Given the description of an element on the screen output the (x, y) to click on. 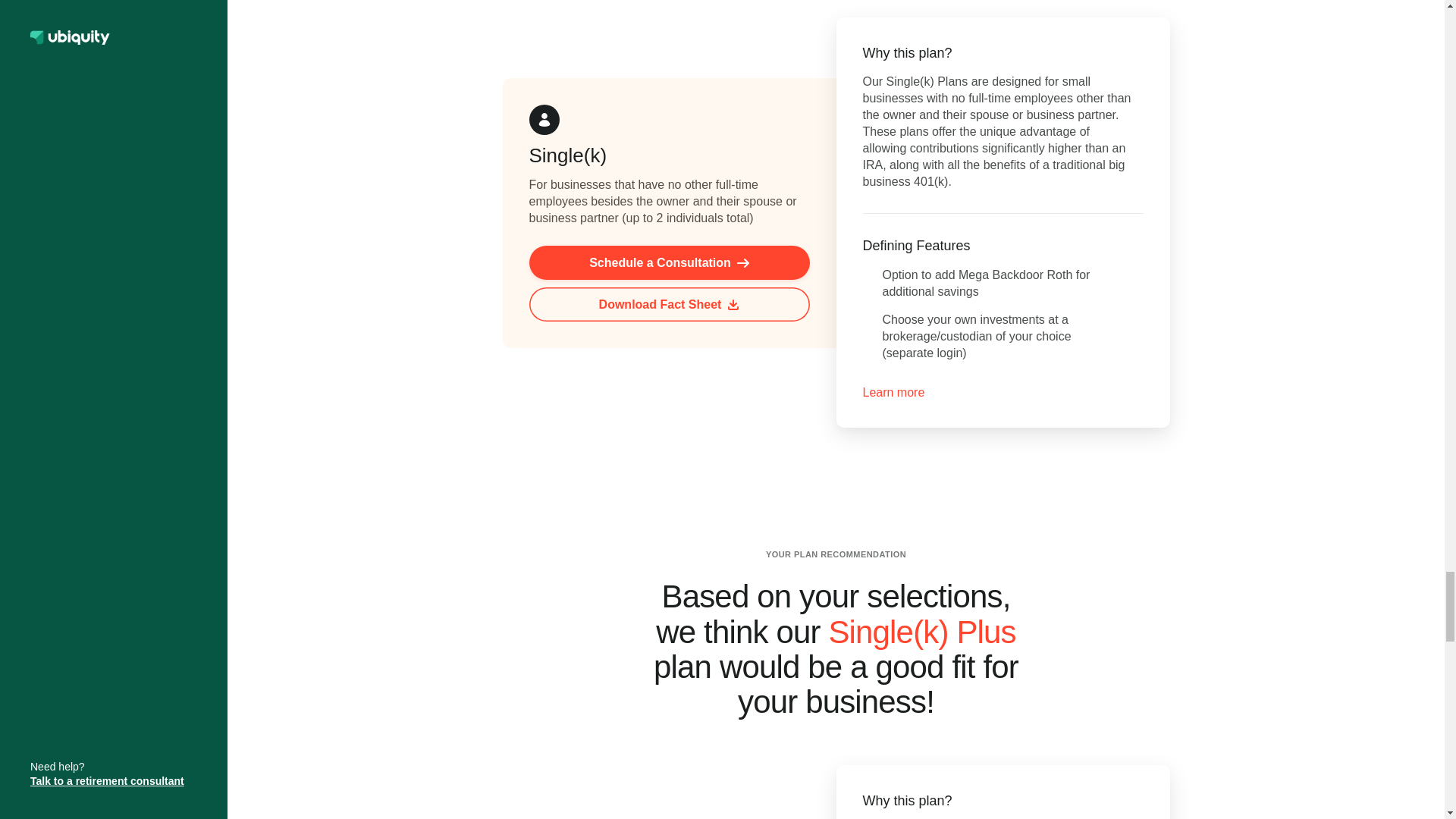
Schedule a Consultation (669, 262)
Learn more (893, 392)
Download Fact Sheet (669, 304)
